Given the description of an element on the screen output the (x, y) to click on. 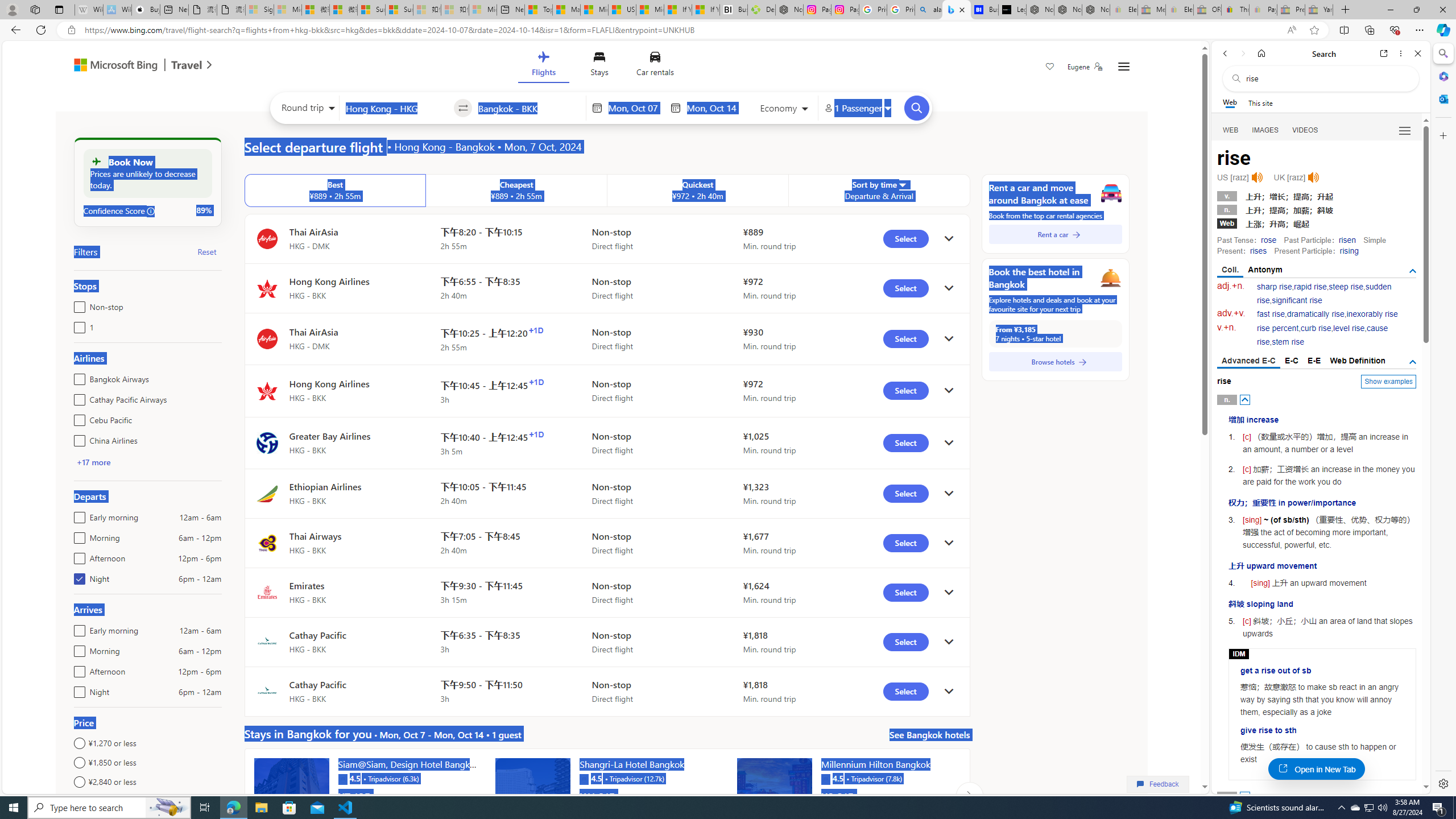
AutomationID: tgdef (1412, 362)
Microsoft Services Agreement - Sleeping (288, 9)
rises (1257, 250)
Microsoft Bing Travel (130, 65)
Reset (206, 251)
Microsoft Bing Travel - Flights from Hong Kong to Bangkok (956, 9)
inexorably rise (1371, 313)
